Given the description of an element on the screen output the (x, y) to click on. 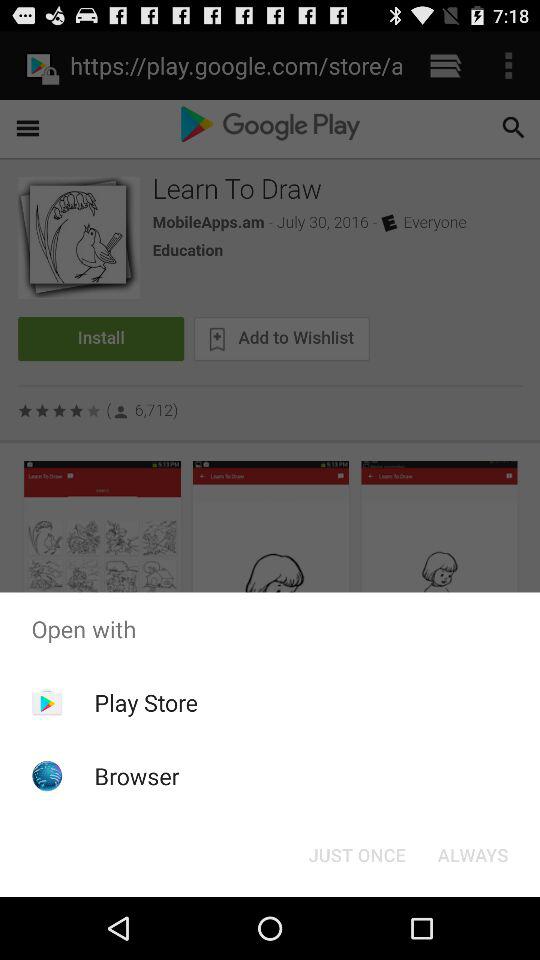
flip to browser (136, 775)
